Given the description of an element on the screen output the (x, y) to click on. 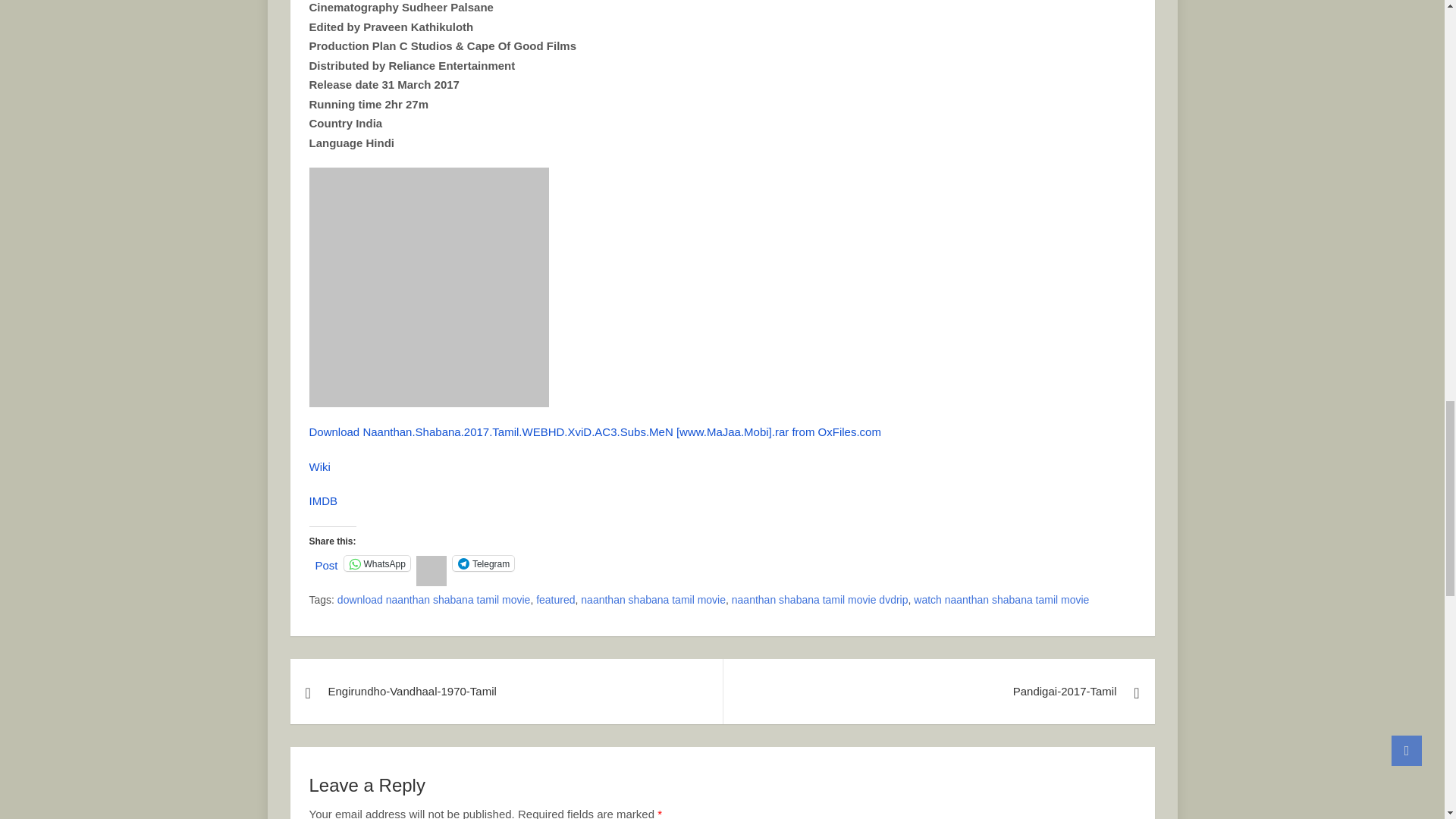
Click to share on Telegram (482, 563)
featured (555, 600)
Post (326, 562)
watch naanthan shabana tamil movie (1001, 600)
Telegram (482, 563)
Wiki (319, 466)
Click to share on WhatsApp (376, 563)
Download from OxFiles.com (594, 431)
Naanthan-Shabana-2017-Tamil-Movie (428, 287)
WhatsApp (376, 563)
